Given the description of an element on the screen output the (x, y) to click on. 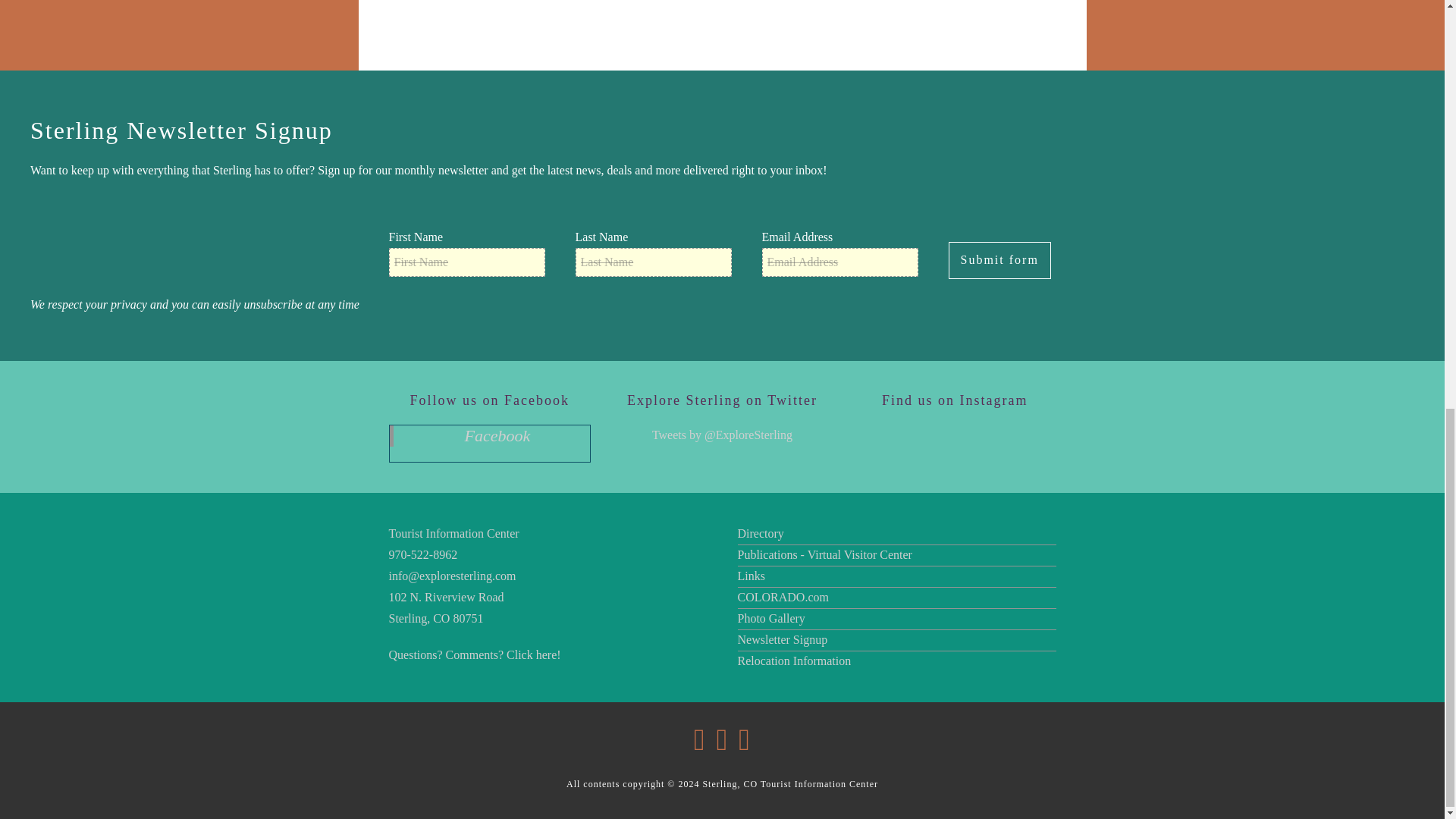
Submit form (998, 260)
Facebook (496, 435)
Submit form (998, 260)
